Given the description of an element on the screen output the (x, y) to click on. 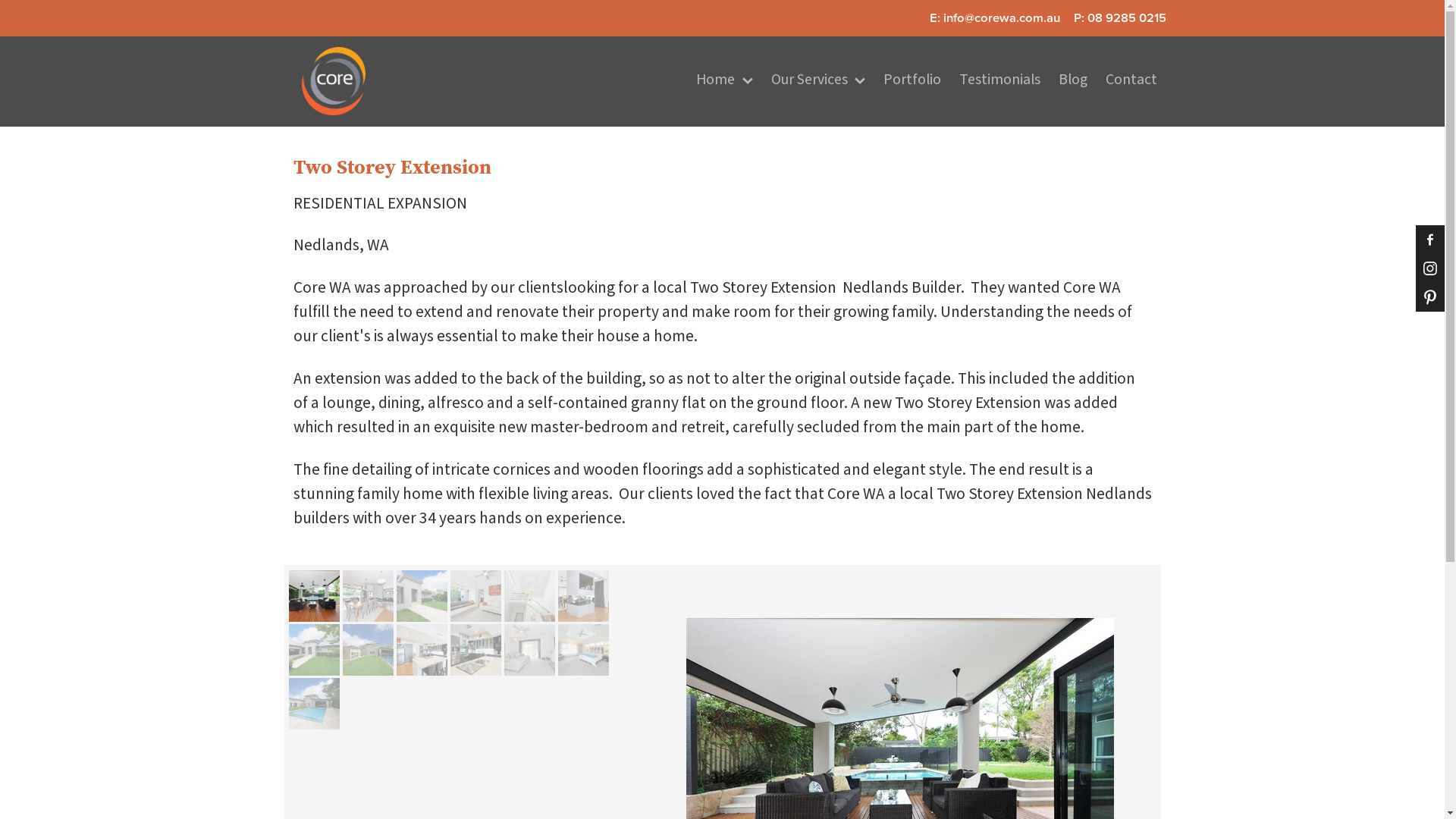
Portfolio Element type: text (912, 80)
Testimonials Element type: text (999, 80)
info@corewa.com.au Element type: text (1001, 17)
A link to this website's Instagram. Element type: hover (1429, 268)
A link to this website's Pinterest. Element type: hover (1429, 296)
Home Element type: text (724, 80)
Blog Element type: text (1072, 80)
Our Services Element type: text (818, 80)
Contact Element type: text (1131, 80)
A link to this website's Facebook. Element type: hover (1429, 239)
